Given the description of an element on the screen output the (x, y) to click on. 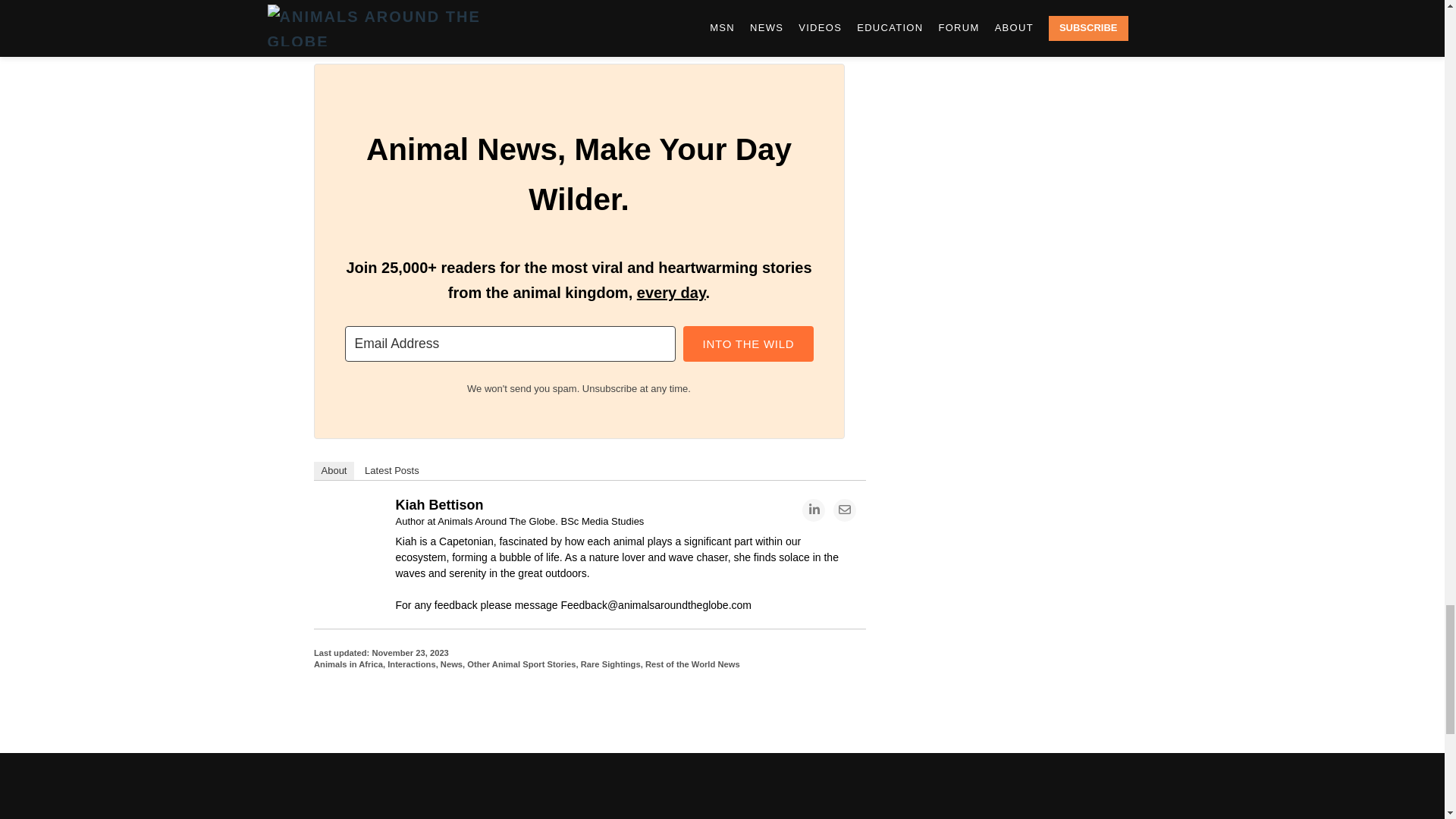
Kiah Bettison (353, 540)
Email (844, 538)
LinkedIn (813, 538)
